Given the description of an element on the screen output the (x, y) to click on. 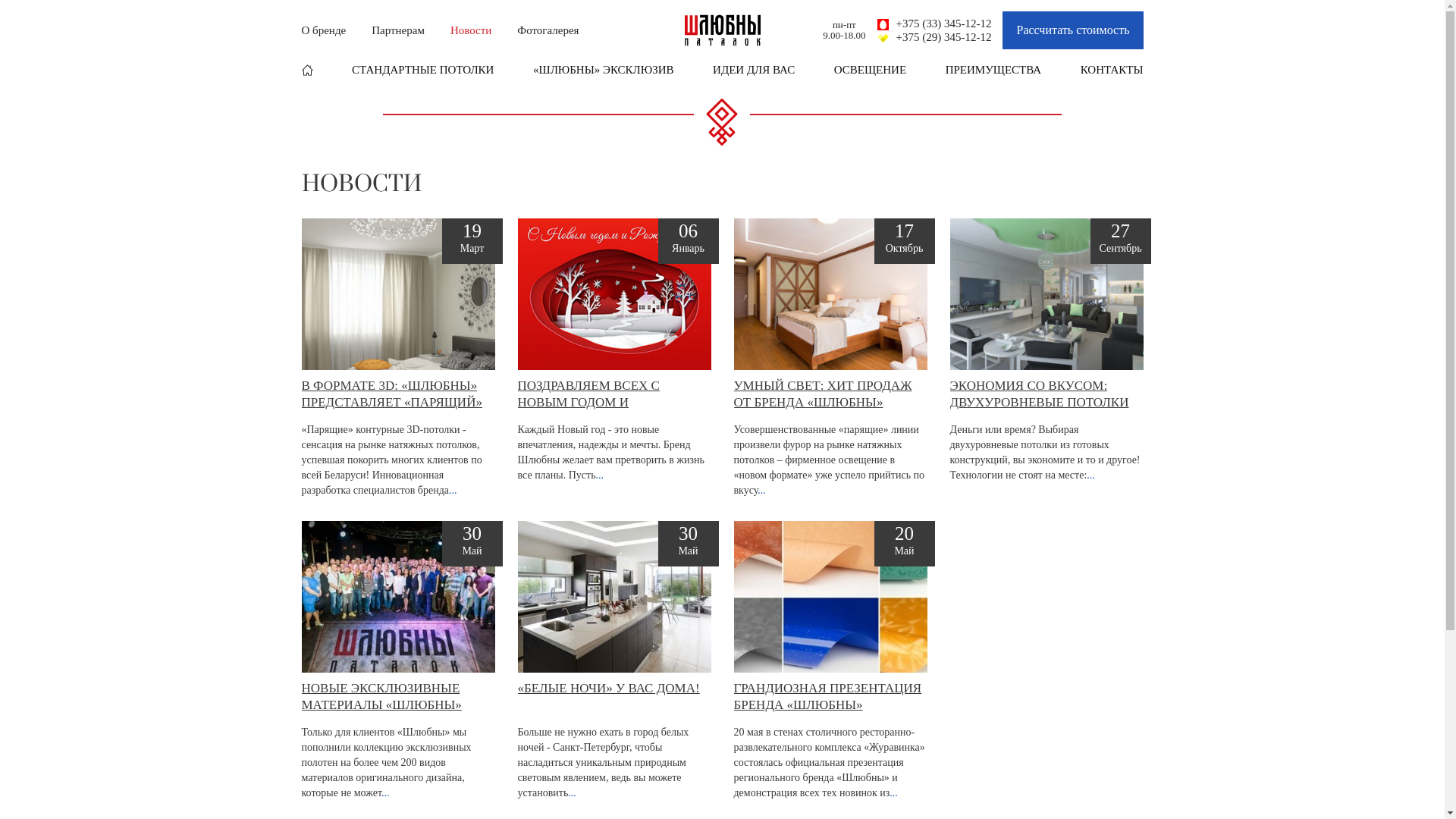
+375 (33) 345-12-12 Element type: text (934, 23)
... Element type: text (452, 489)
... Element type: text (1090, 474)
+375 (29) 345-12-12 Element type: text (934, 36)
... Element type: text (893, 792)
... Element type: text (761, 489)
... Element type: text (600, 474)
... Element type: text (571, 792)
... Element type: text (385, 792)
